Given the description of an element on the screen output the (x, y) to click on. 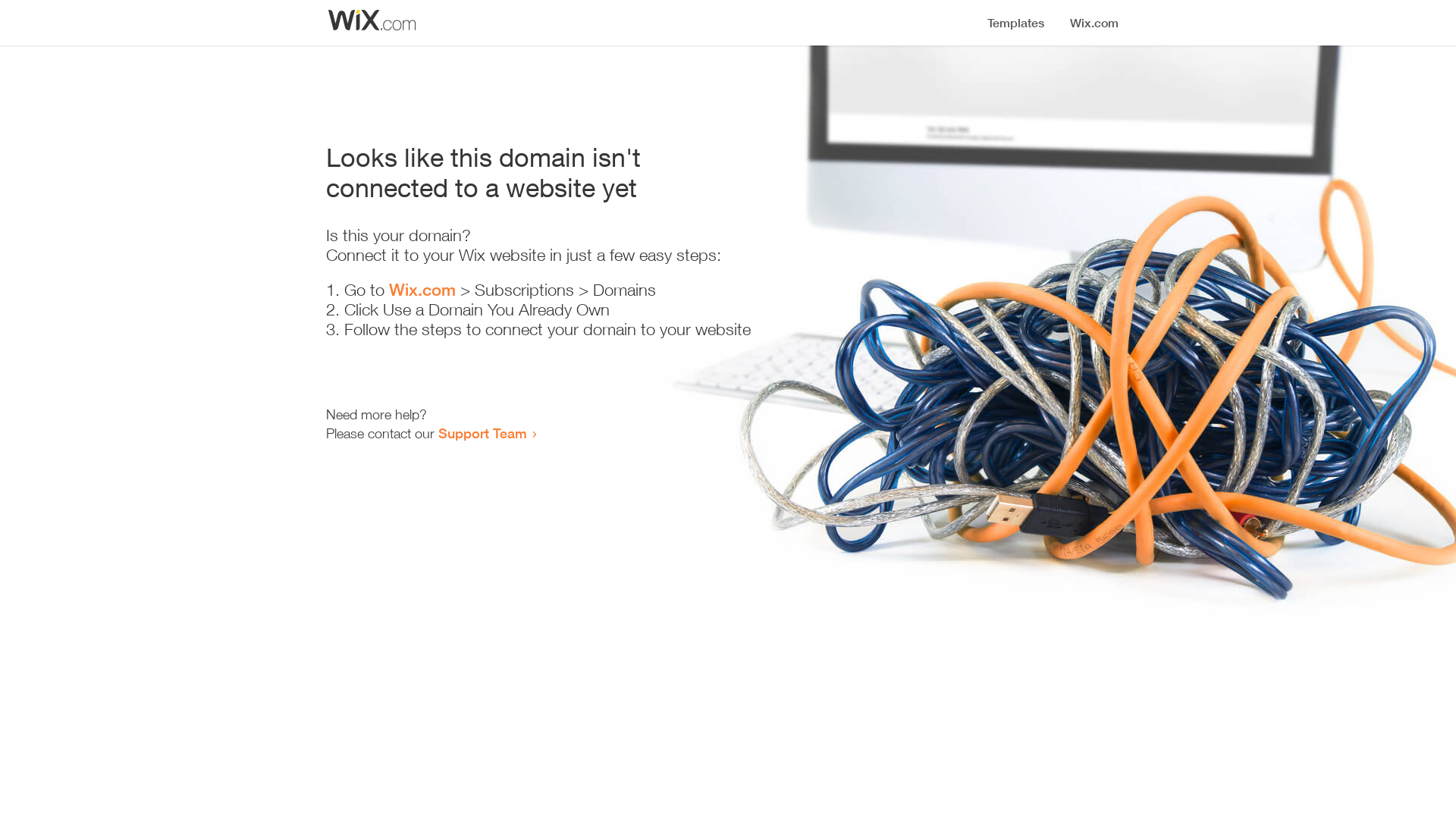
Support Team Element type: text (482, 432)
Wix.com Element type: text (422, 289)
